Given the description of an element on the screen output the (x, y) to click on. 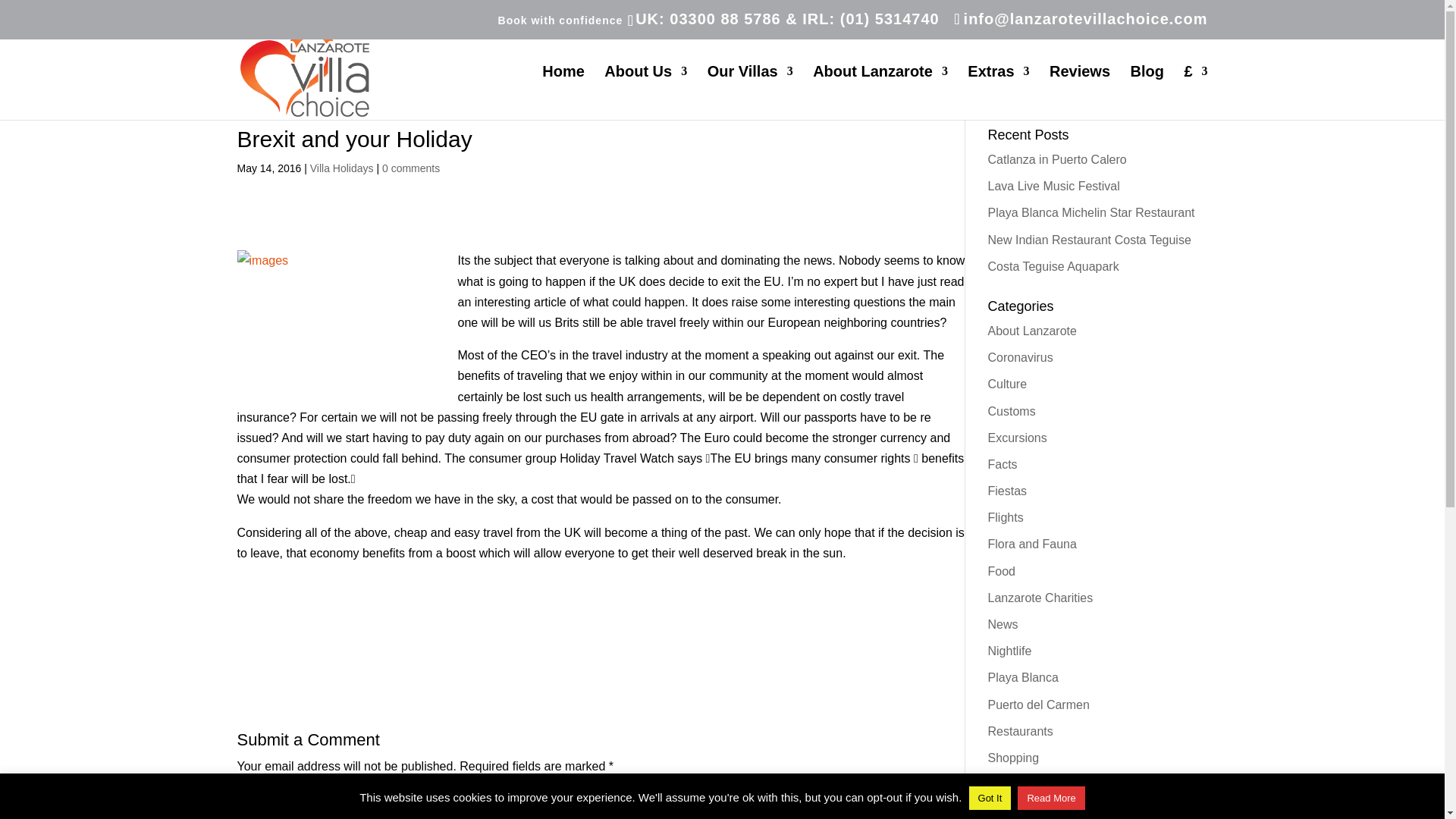
Our Villas (750, 92)
About Lanzarote (879, 92)
Reviews (1079, 92)
About Us (645, 92)
Extras (998, 92)
